Given the description of an element on the screen output the (x, y) to click on. 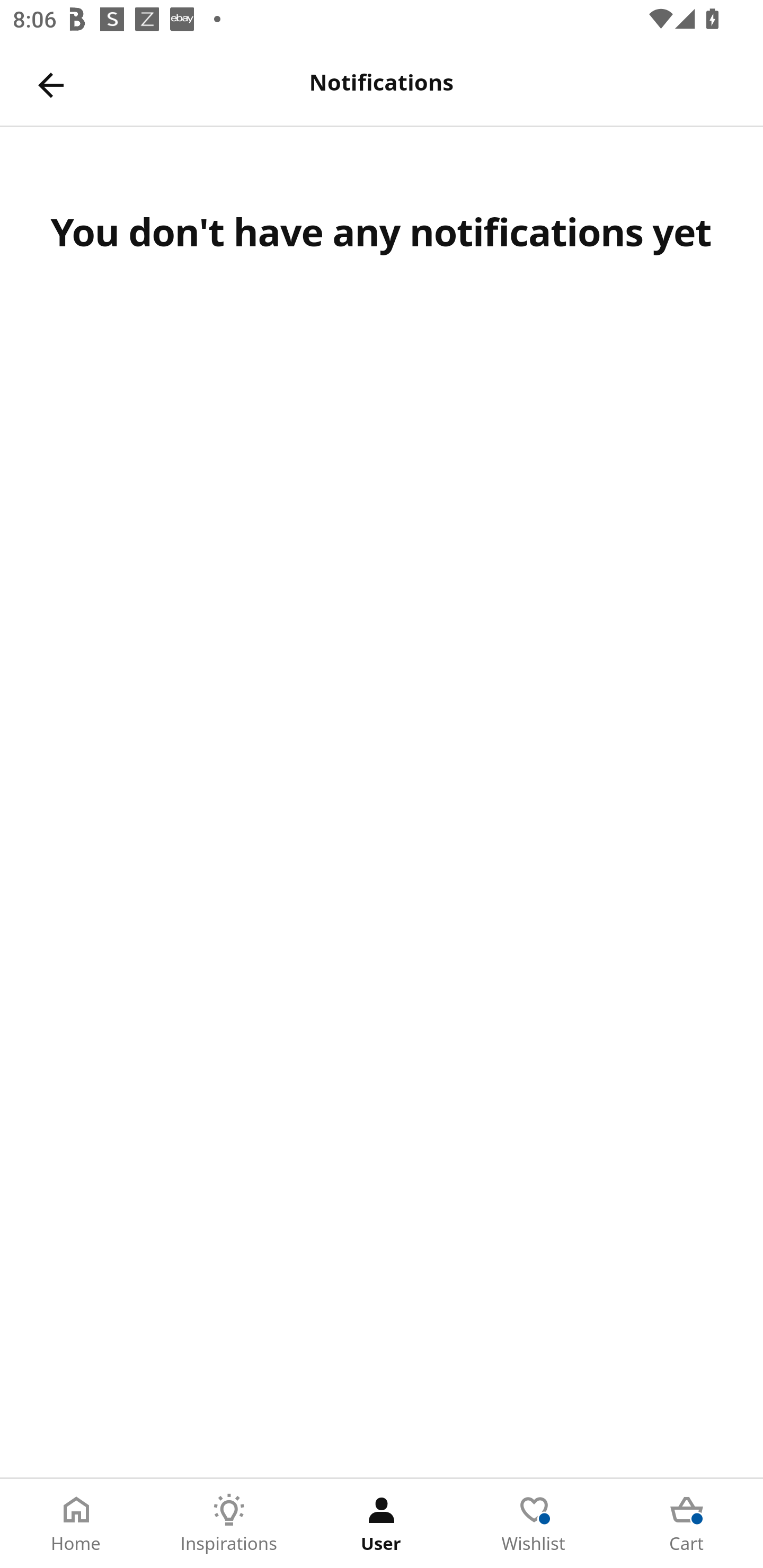
Home
Tab 1 of 5 (76, 1522)
Inspirations
Tab 2 of 5 (228, 1522)
User
Tab 3 of 5 (381, 1522)
Wishlist
Tab 4 of 5 (533, 1522)
Cart
Tab 5 of 5 (686, 1522)
